Given the description of an element on the screen output the (x, y) to click on. 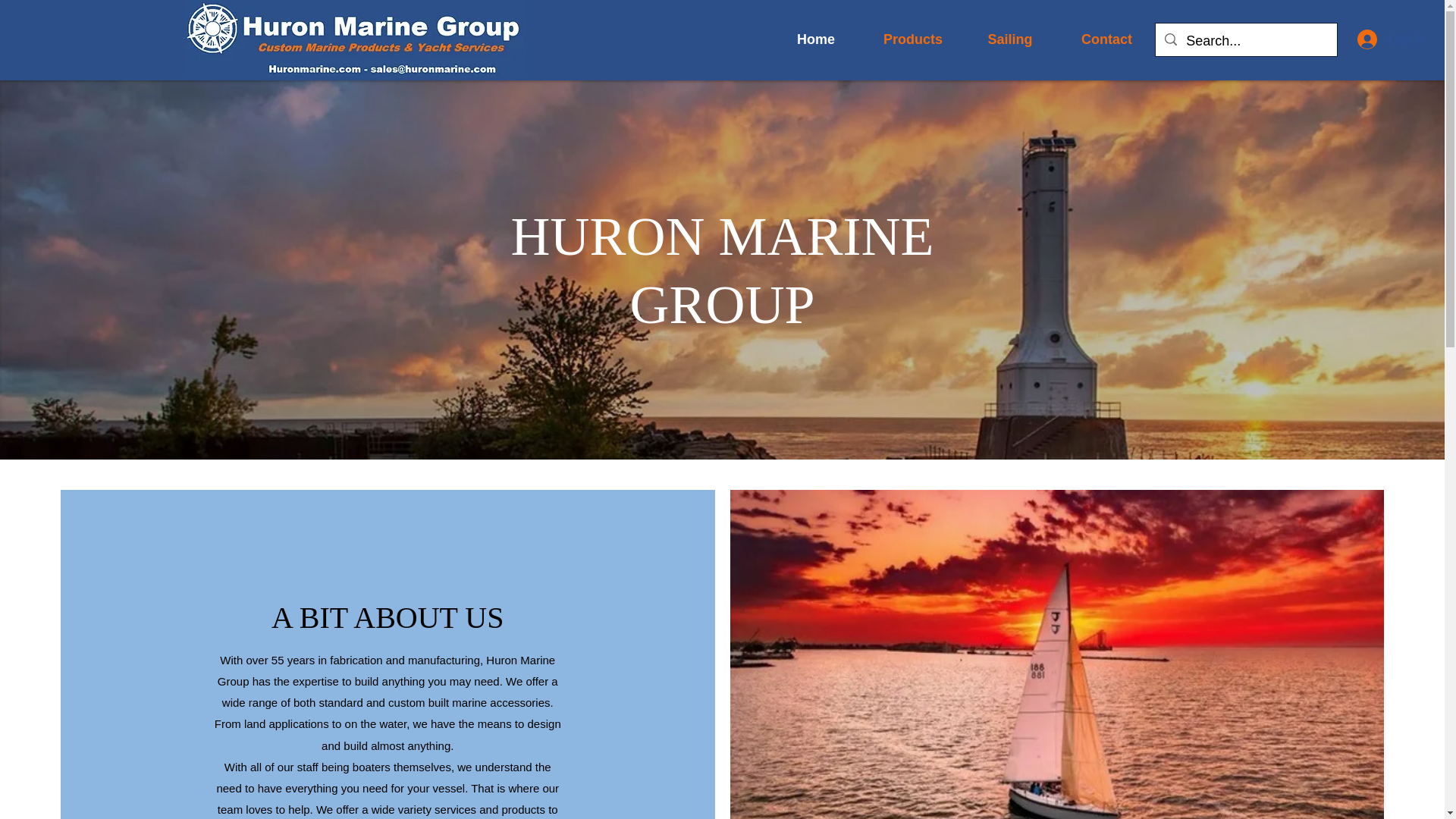
Products (912, 39)
Log In (1390, 39)
Home (815, 39)
Sailing (1009, 39)
Contact (1106, 39)
